Given the description of an element on the screen output the (x, y) to click on. 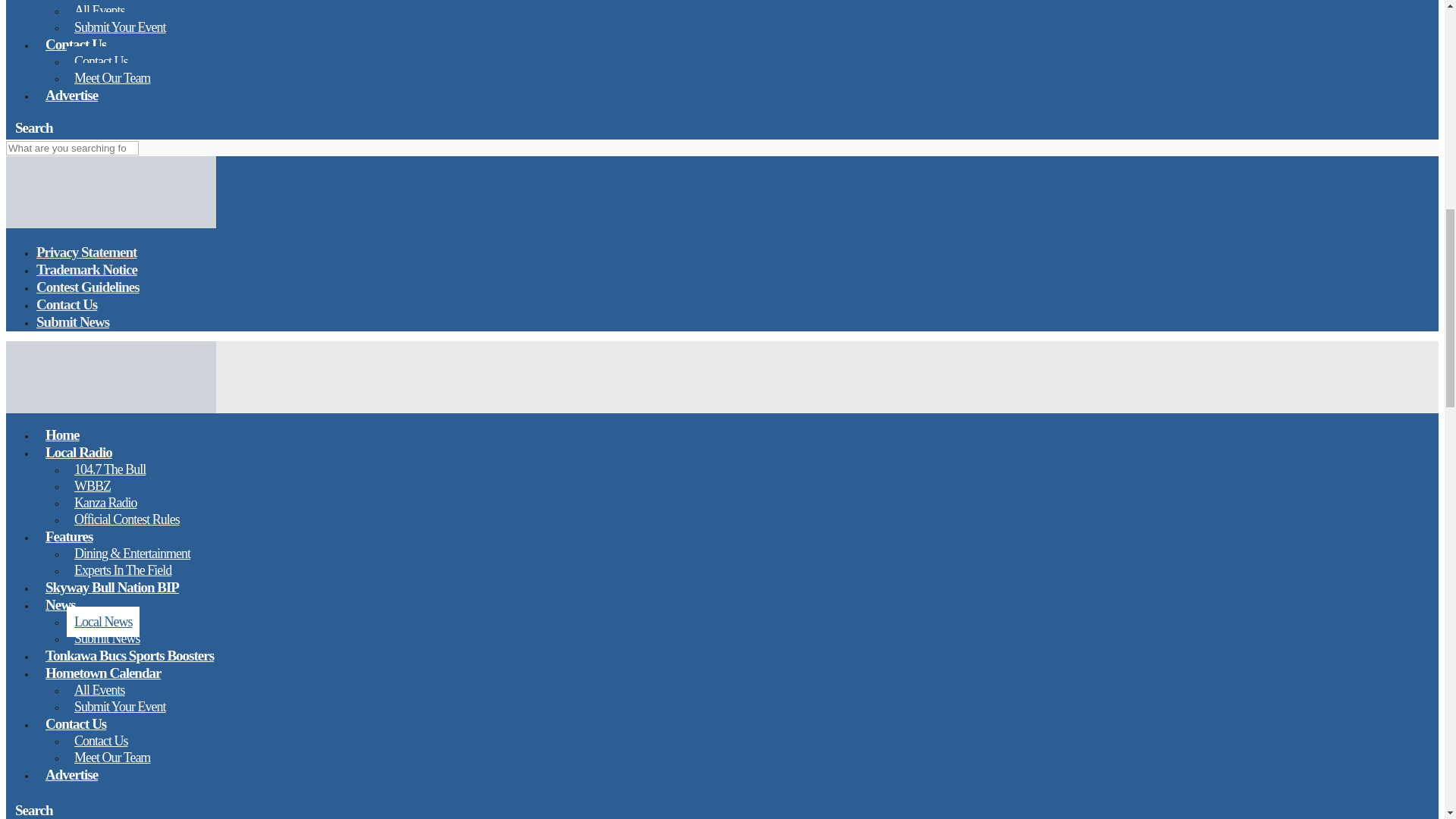
My Hometown Post (110, 224)
Search for: (71, 147)
